Given the description of an element on the screen output the (x, y) to click on. 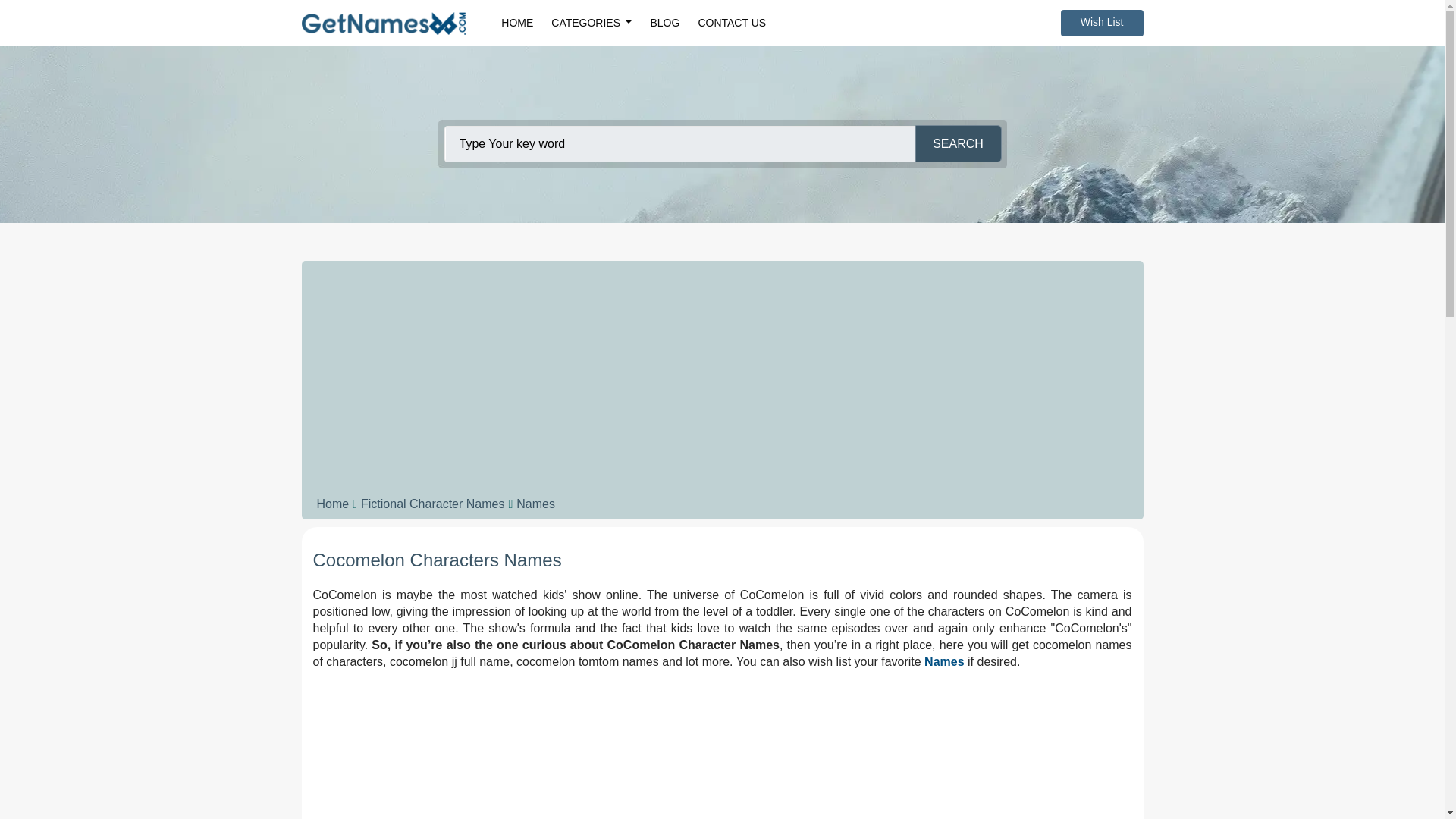
Advertisement (722, 750)
HOME (516, 23)
CATEGORIES (590, 23)
